Given the description of an element on the screen output the (x, y) to click on. 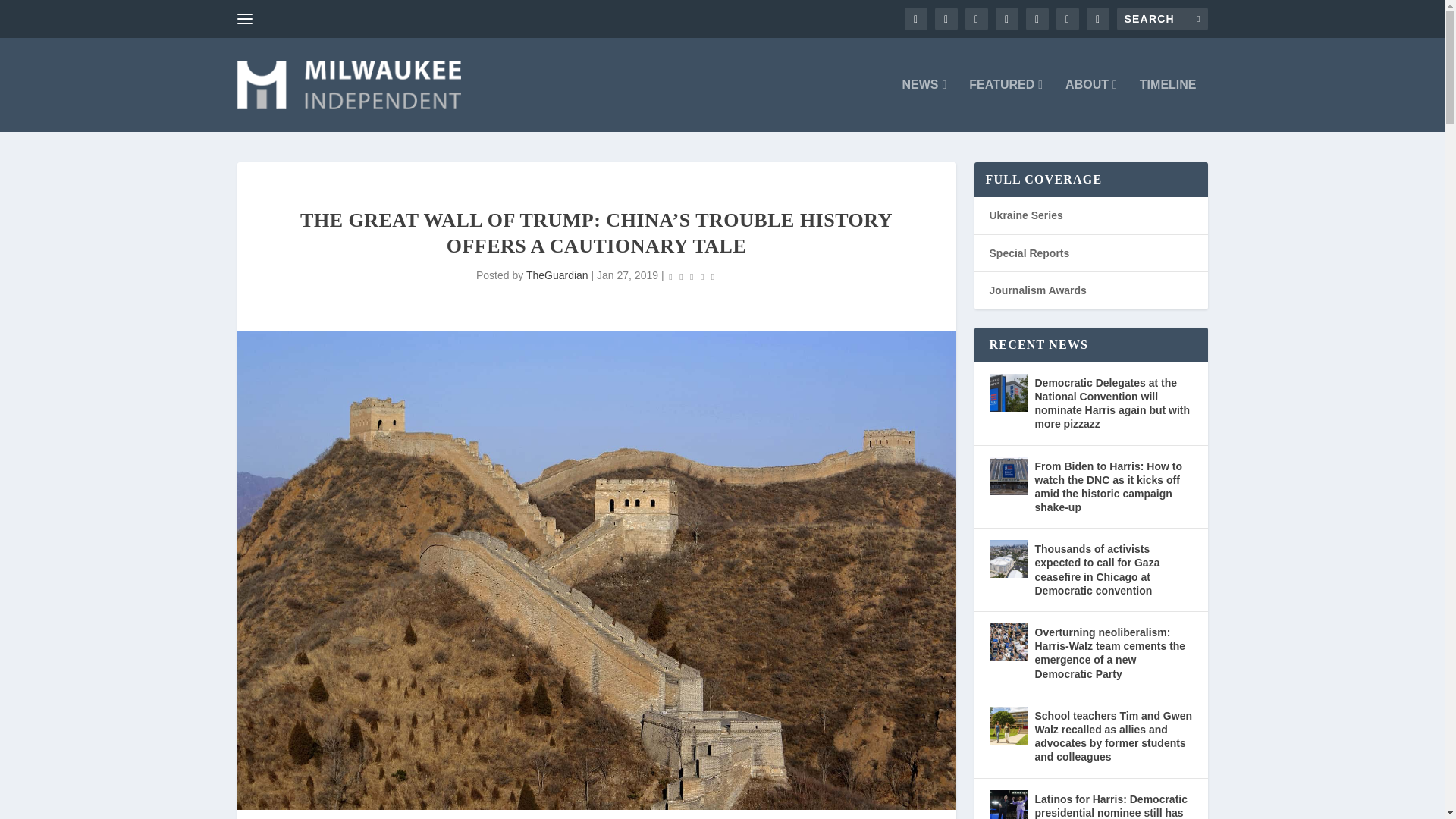
FEATURED (1005, 104)
ABOUT (1090, 104)
Rating: 1.00 (691, 275)
Search for: (1161, 18)
TIMELINE (1168, 104)
Posts by TheGuardian (556, 275)
